Given the description of an element on the screen output the (x, y) to click on. 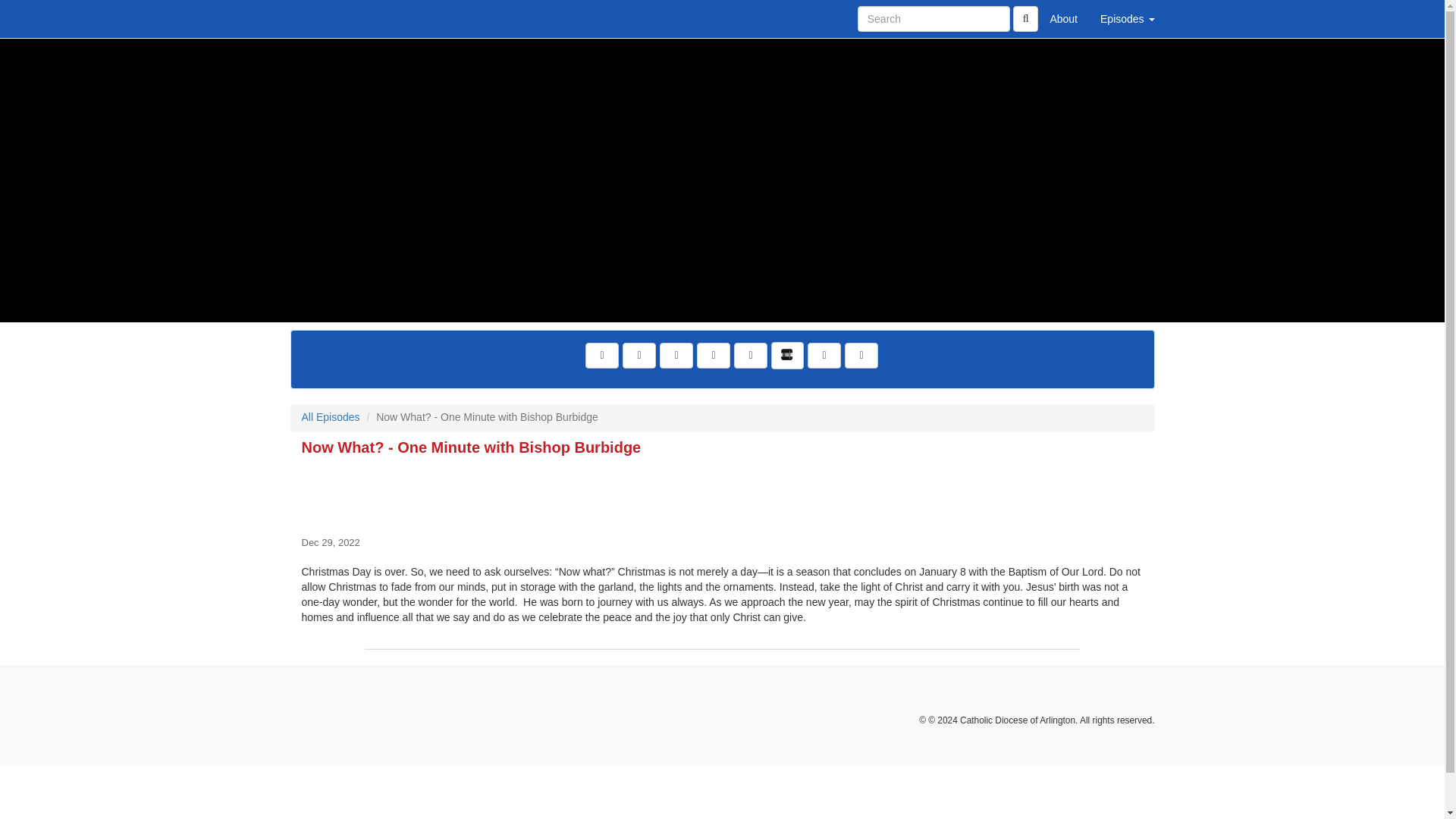
Listen on Apple Podcasts (750, 355)
Episodes (1127, 18)
Subscribe to RSS Feed (713, 355)
Home Page (320, 18)
About (1063, 18)
Listen on Stitcher (787, 355)
Email This Podcast (676, 355)
Go To YouTube Channel (860, 355)
Listen on Spotify (824, 355)
Now What? - One Minute with Bishop Burbidge (721, 493)
